Given the description of an element on the screen output the (x, y) to click on. 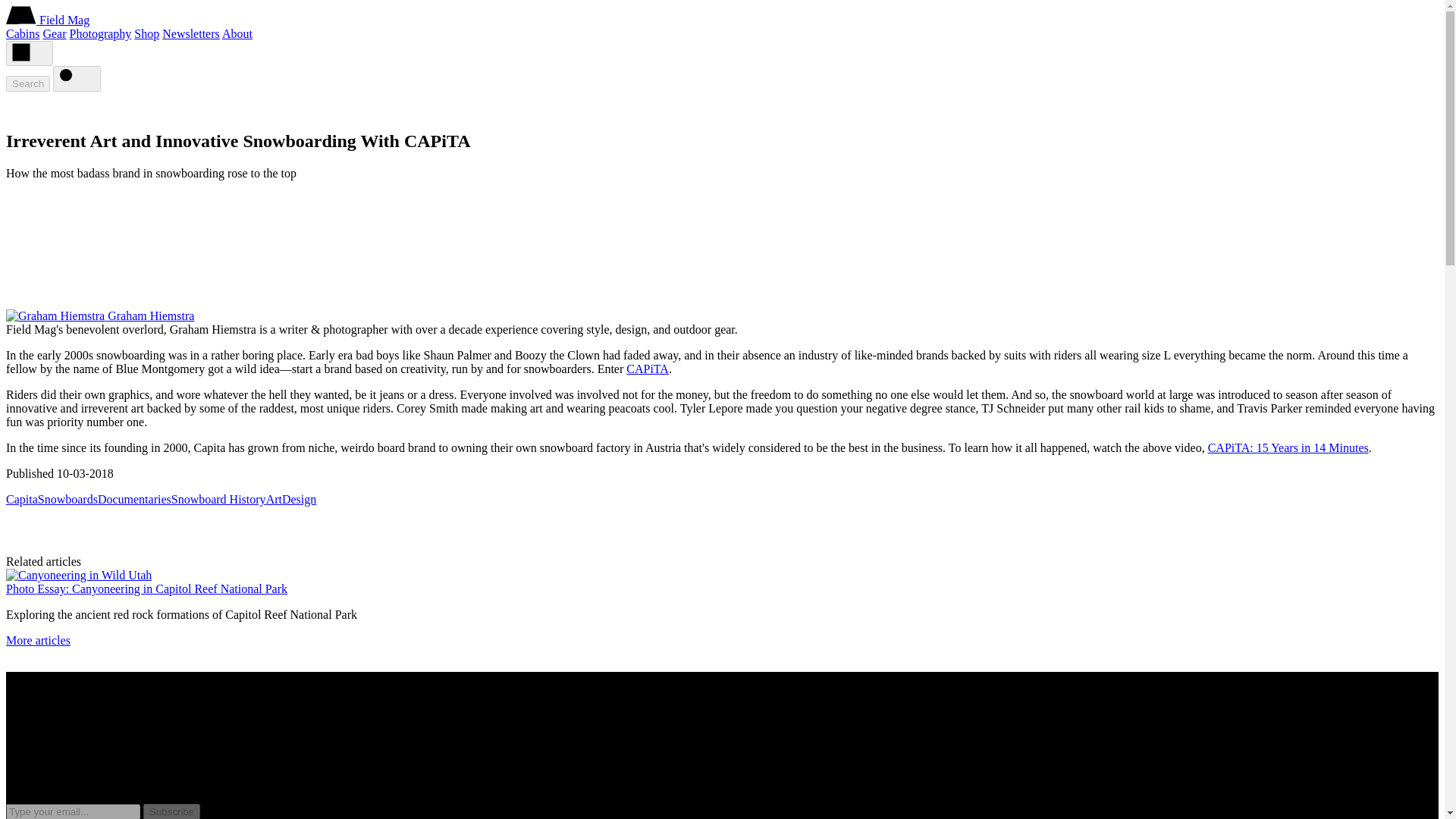
Search (27, 83)
Field Mag (63, 19)
Newsletters (190, 33)
Documentaries (134, 499)
Shop (145, 33)
Gear (53, 33)
Snowboards (67, 499)
Photo Essay: Canyoneering in Capitol Reef National Park (145, 588)
Subscribe (171, 811)
Cabins (22, 33)
Photography (100, 33)
Graham Hiemstra (150, 315)
Capita (21, 499)
CAPiTA (647, 368)
More articles (37, 640)
